Given the description of an element on the screen output the (x, y) to click on. 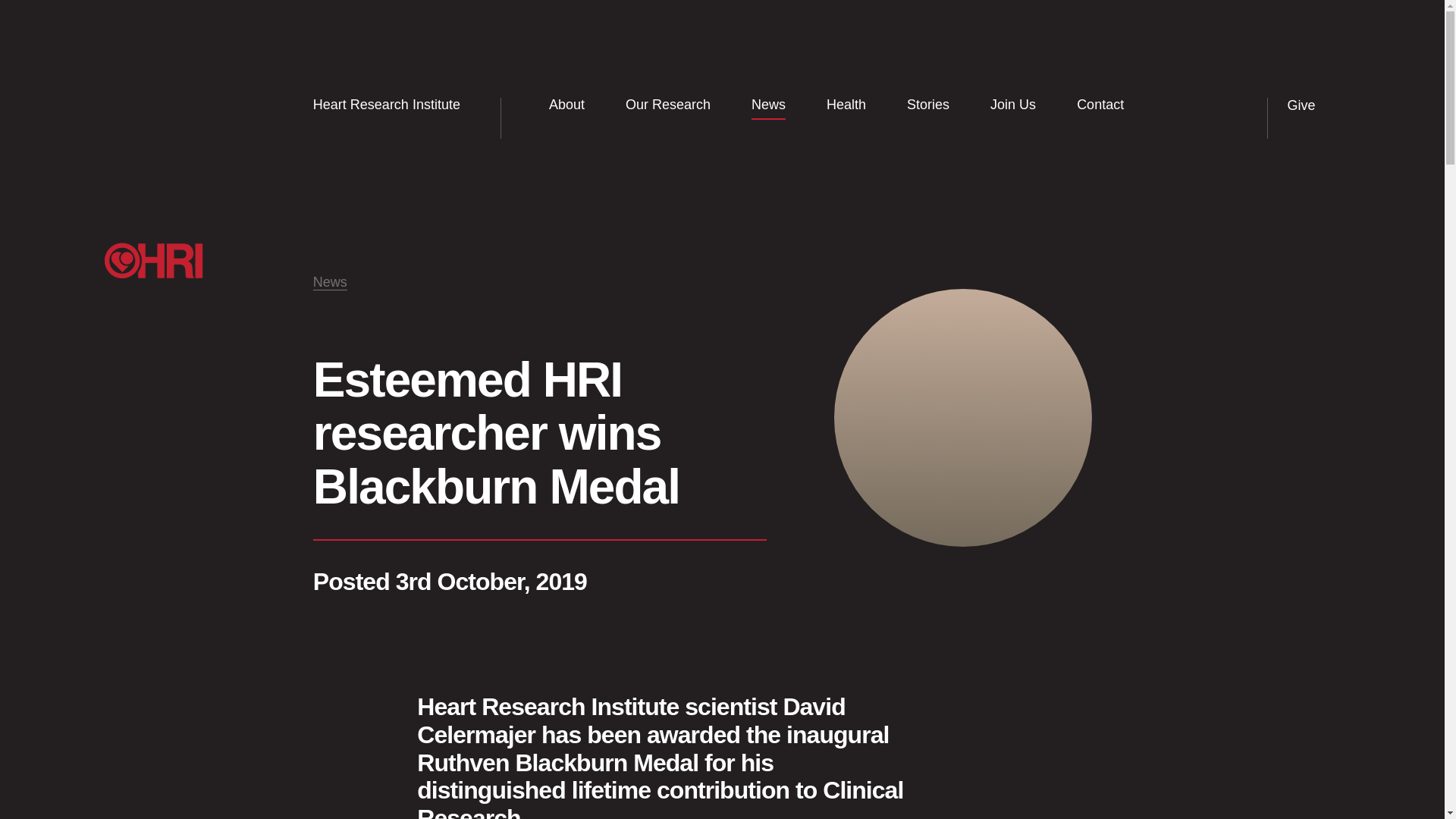
Join Us (1013, 104)
Contact (1100, 104)
Give (1313, 105)
Health (846, 104)
Our Research (667, 104)
News (330, 282)
News (768, 104)
About (566, 104)
Stories (927, 104)
Heart Research Institute (396, 104)
